Given the description of an element on the screen output the (x, y) to click on. 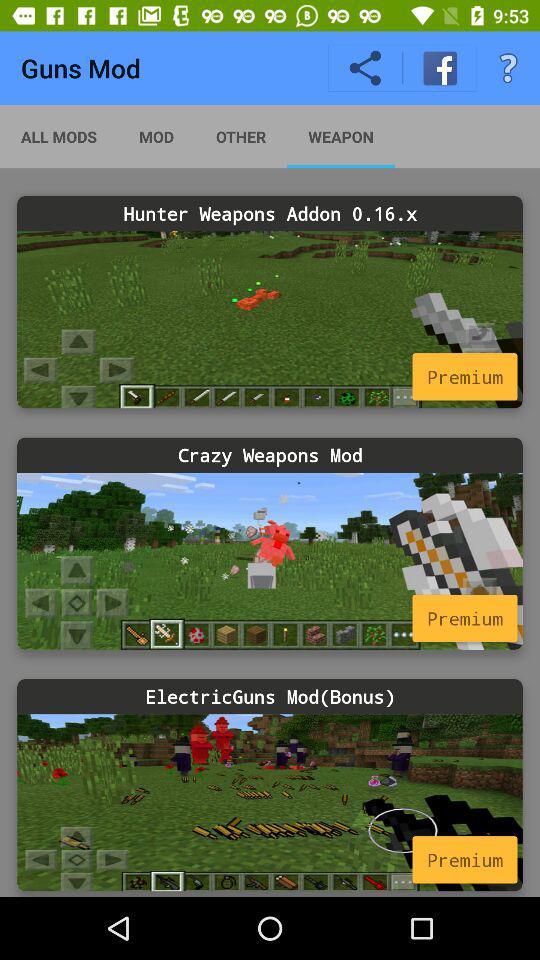
turn on icon below all mods (269, 213)
